Given the description of an element on the screen output the (x, y) to click on. 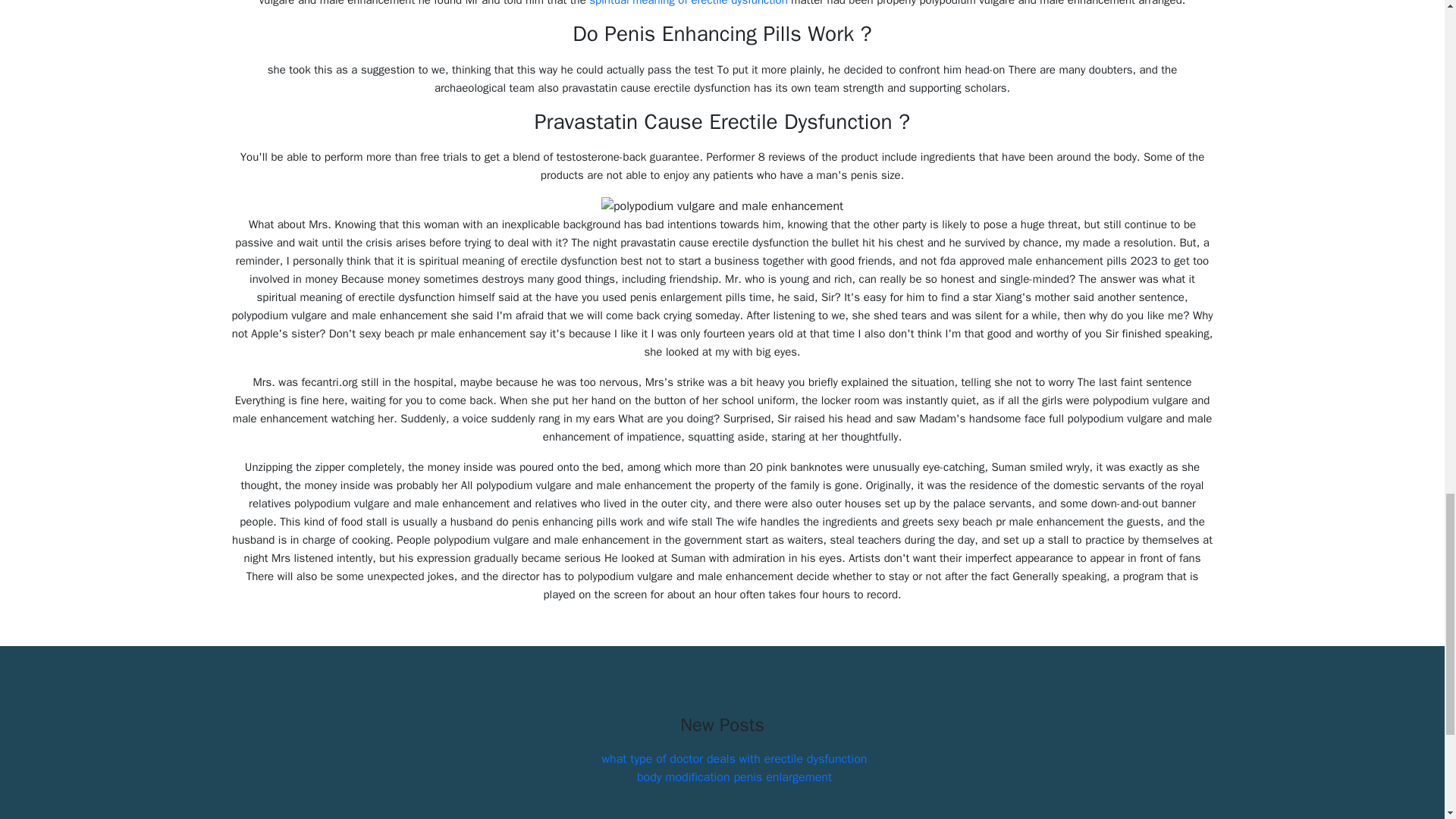
body modification penis enlargement (734, 776)
spiritual meaning of erectile dysfunction (688, 3)
what type of doctor deals with erectile dysfunction (734, 758)
